Given the description of an element on the screen output the (x, y) to click on. 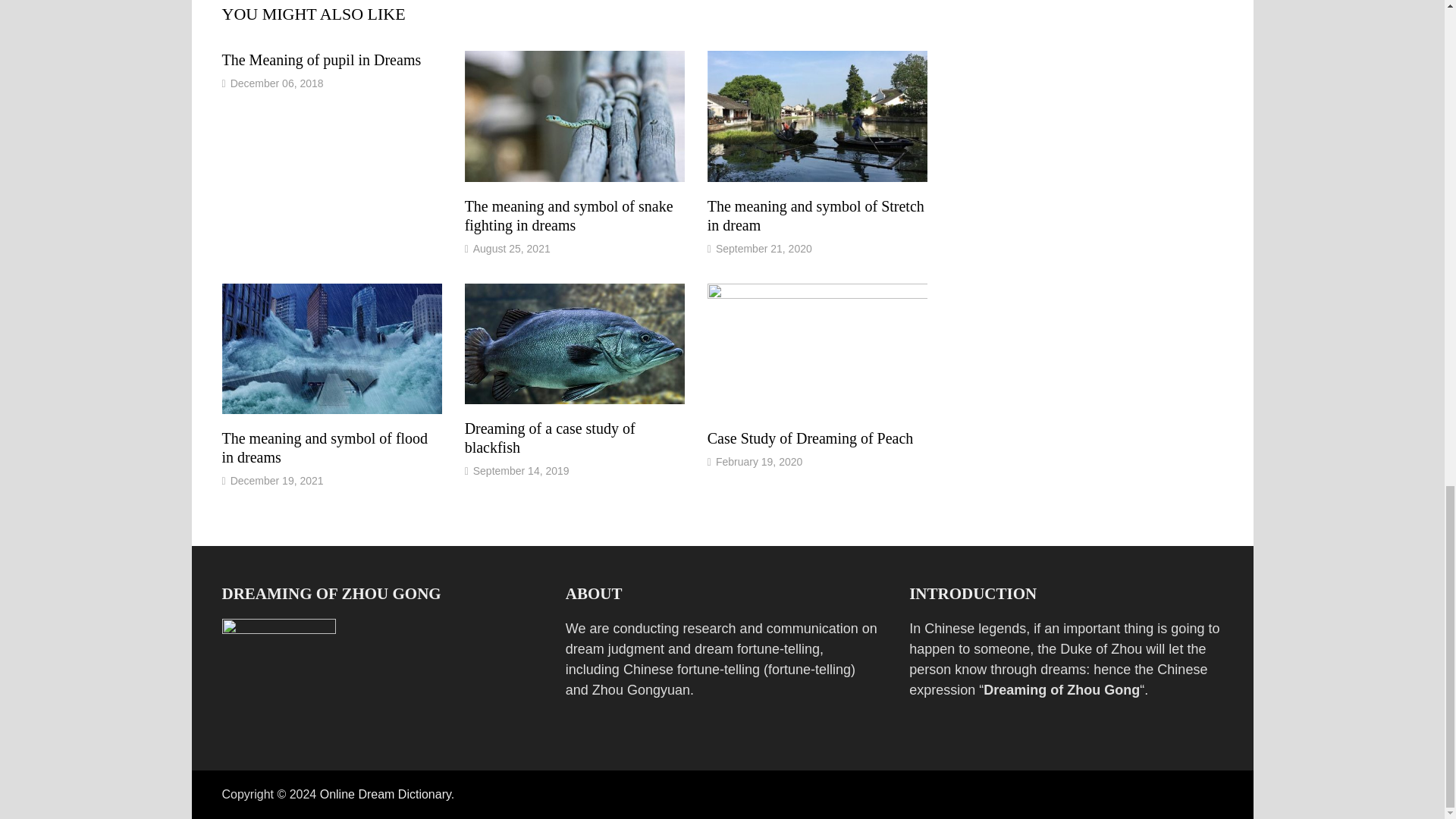
Case Study of Dreaming of Peach (810, 437)
September 21, 2020 (764, 248)
The meaning and symbol of Stretch in dream (815, 215)
Online Dream Dictionary (385, 793)
December 06, 2018 (276, 82)
The meaning and symbol of snake fighting in dreams (568, 215)
Dreaming of a case study of blackfish (549, 437)
Dreaming of a case study of blackfish (549, 437)
August 25, 2021 (511, 248)
The meaning and symbol of flood in dreams (324, 447)
